Given the description of an element on the screen output the (x, y) to click on. 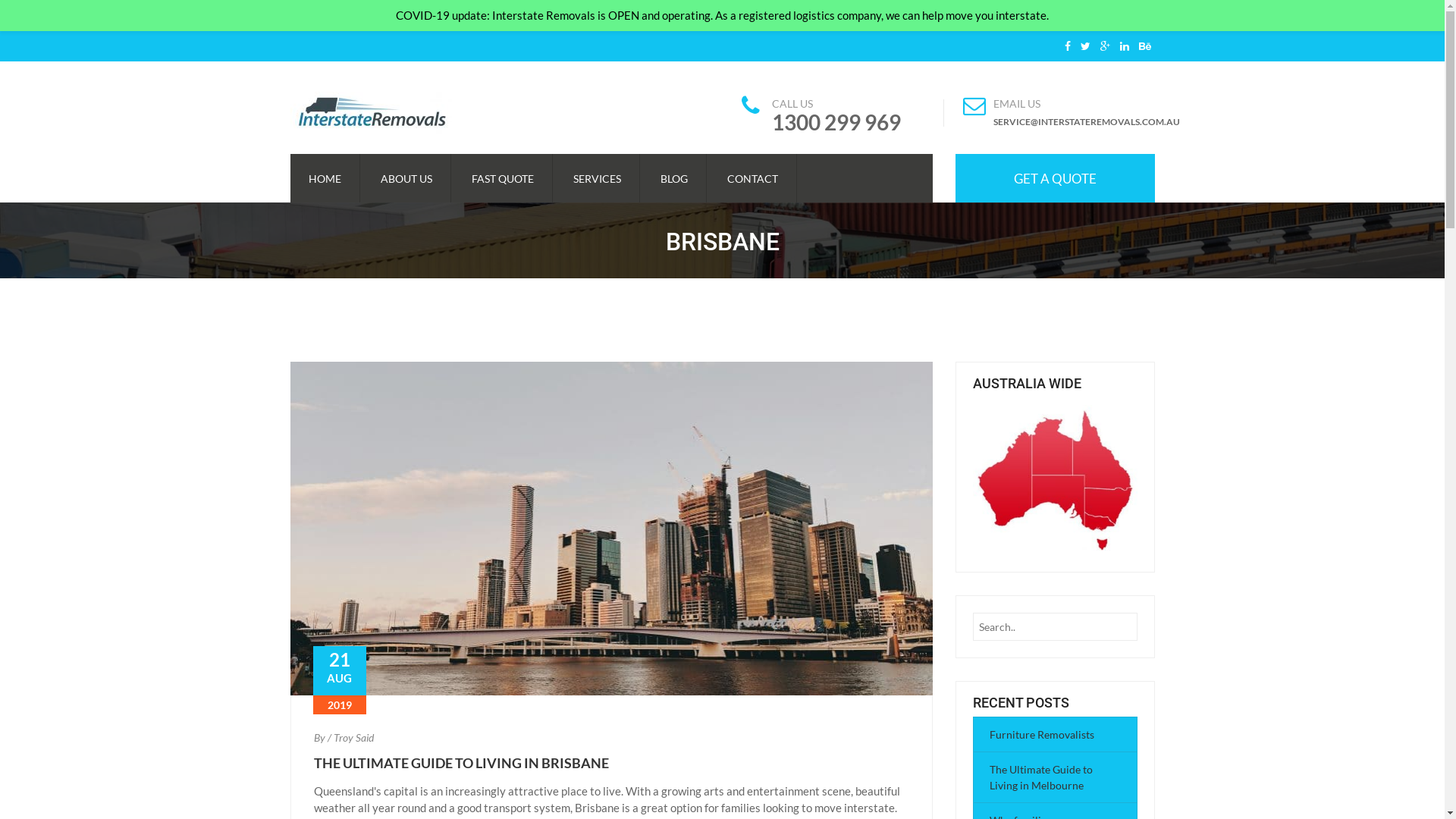
SERVICES Element type: text (596, 177)
THE ULTIMATE GUIDE TO LIVING IN BRISBANE Element type: text (460, 762)
CONTACT Element type: text (751, 177)
Furniture Removalists Element type: text (1041, 734)
BLOG Element type: text (673, 177)
The Ultimate Guide to Living in Melbourne Element type: text (1040, 776)
ABOUT US Element type: text (405, 177)
FAST QUOTE Element type: text (502, 177)
HOME Element type: text (324, 177)
GET A QUOTE Element type: text (1054, 177)
